Given the description of an element on the screen output the (x, y) to click on. 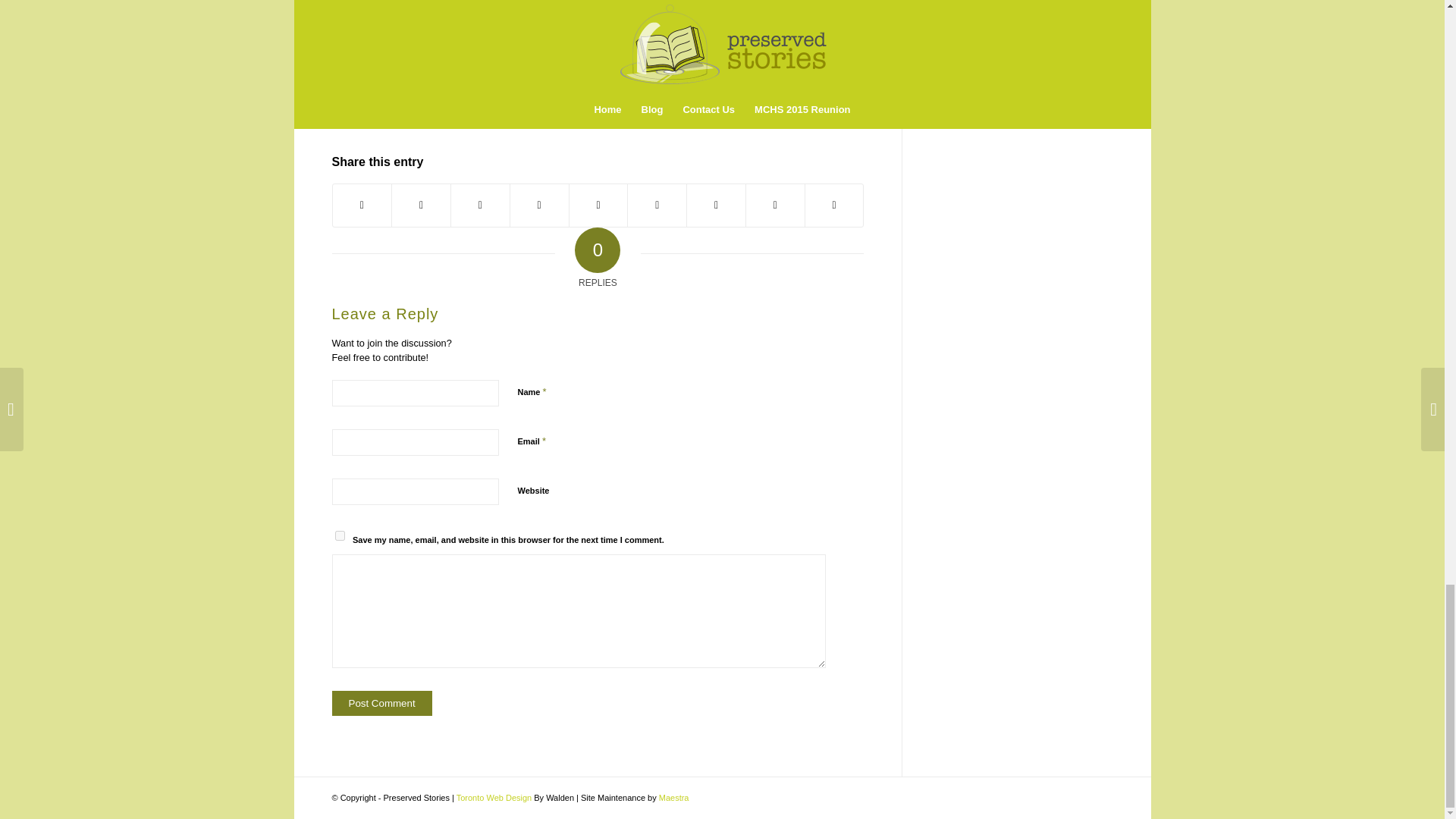
Post Comment (381, 703)
Post Comment (381, 703)
yes (339, 535)
